Given the description of an element on the screen output the (x, y) to click on. 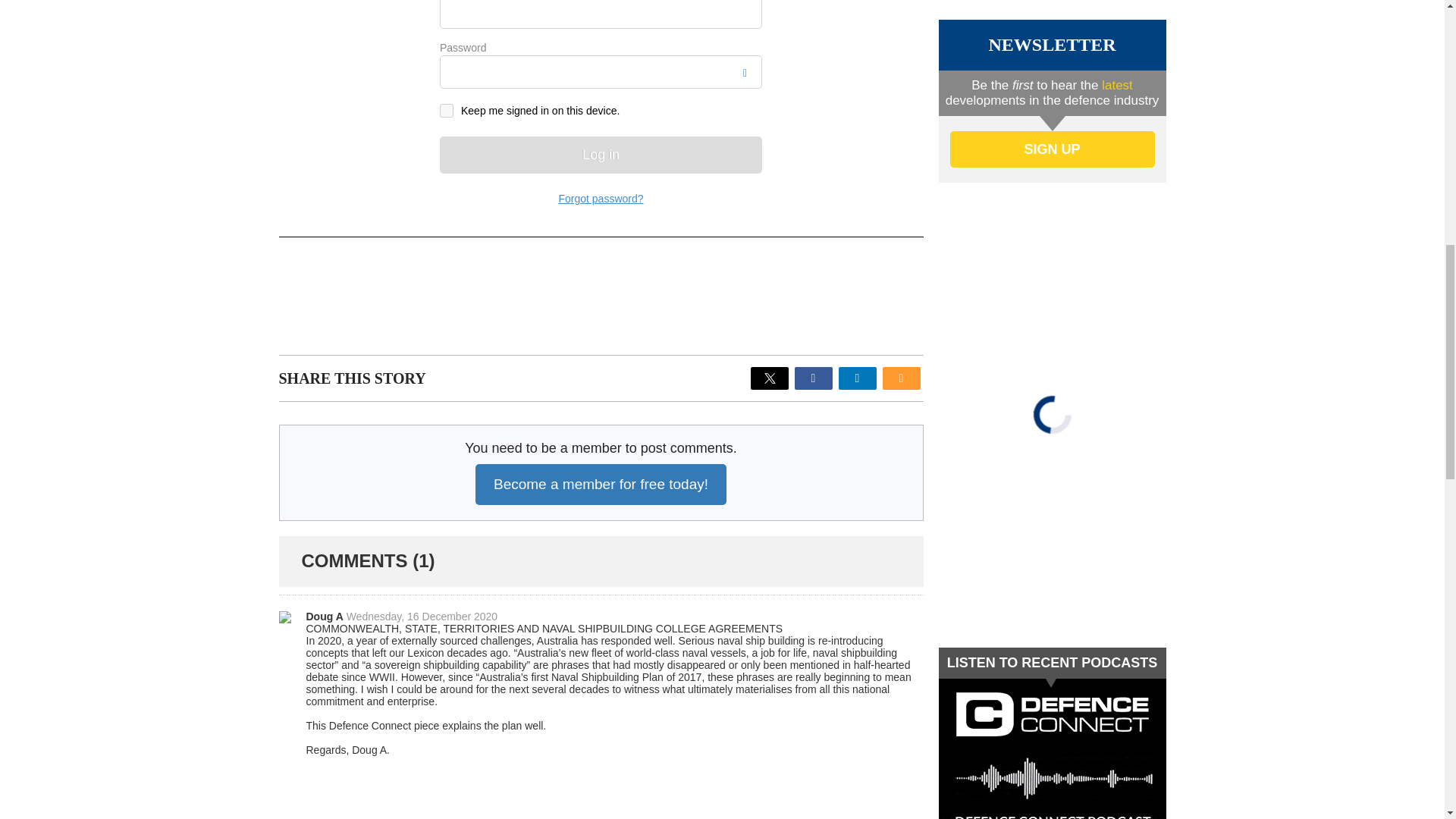
Log in (600, 154)
on (445, 110)
sign up (1051, 148)
